Given the description of an element on the screen output the (x, y) to click on. 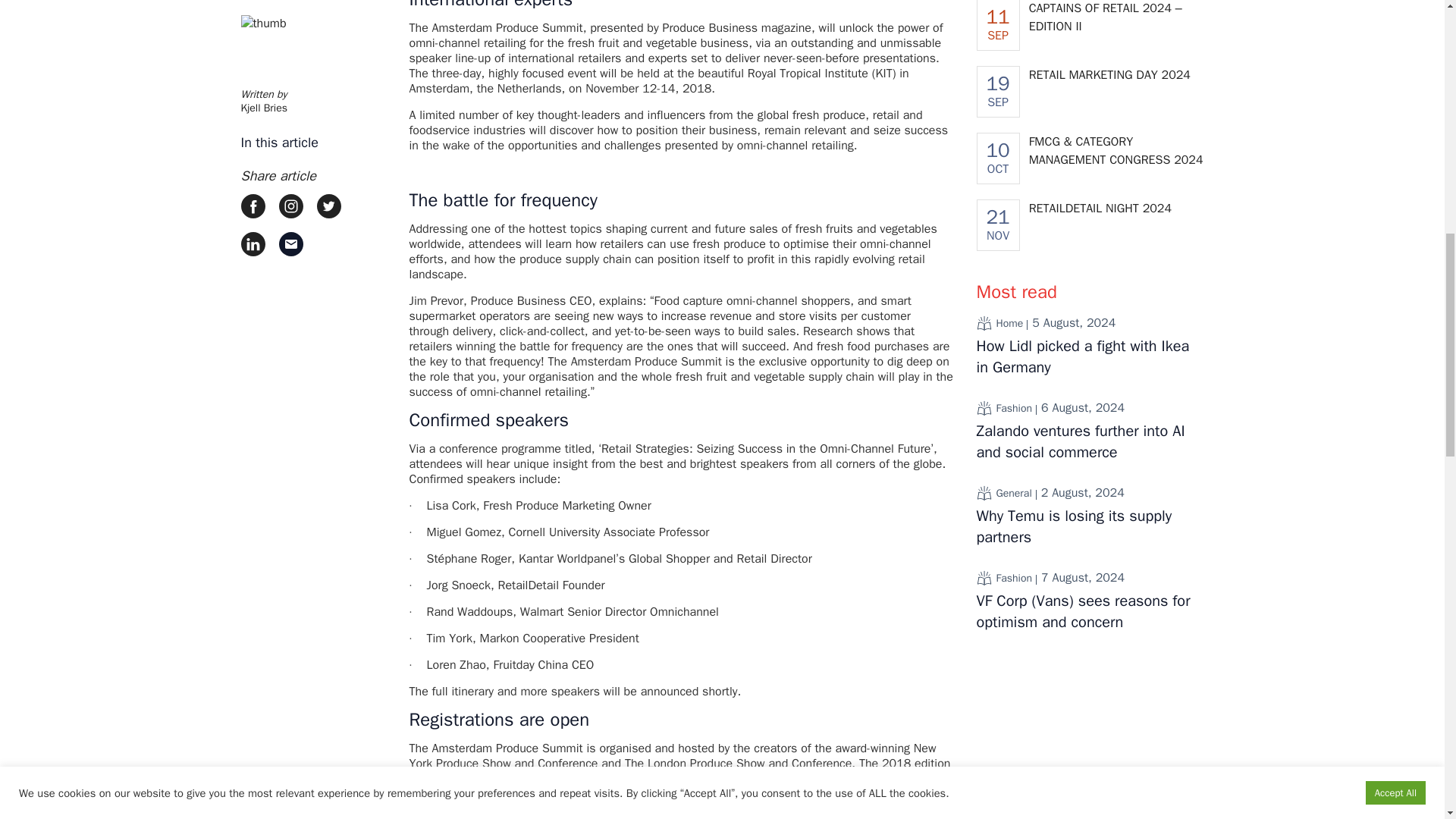
Article (983, 492)
Article (983, 407)
Article (983, 577)
Article (983, 322)
